Given the description of an element on the screen output the (x, y) to click on. 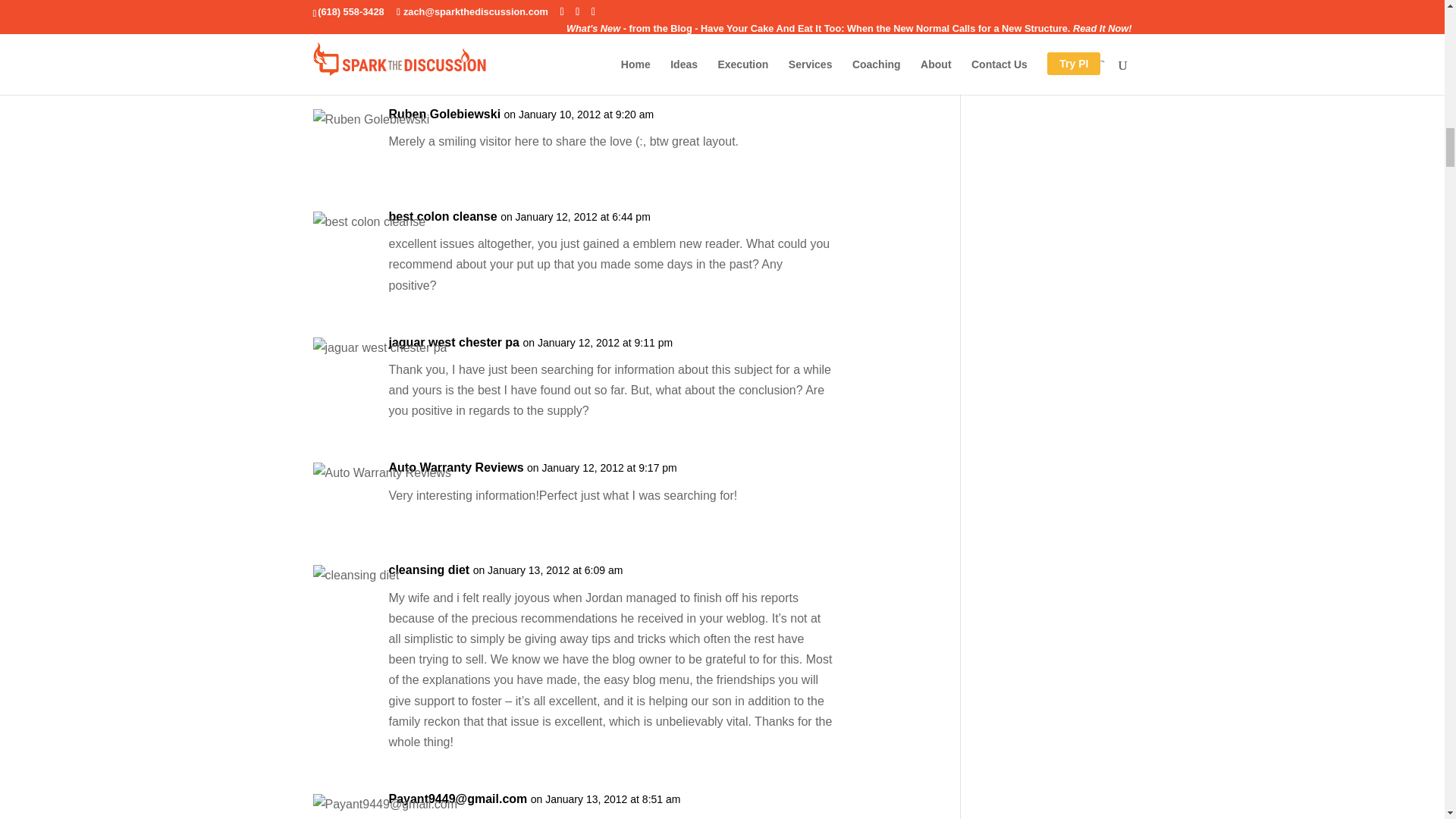
jaguar west chester pa (453, 342)
Ruben Golebiewski (444, 114)
best colon cleanse (442, 216)
cleansing diet (428, 569)
Auto Warranty Reviews (455, 467)
